Given the description of an element on the screen output the (x, y) to click on. 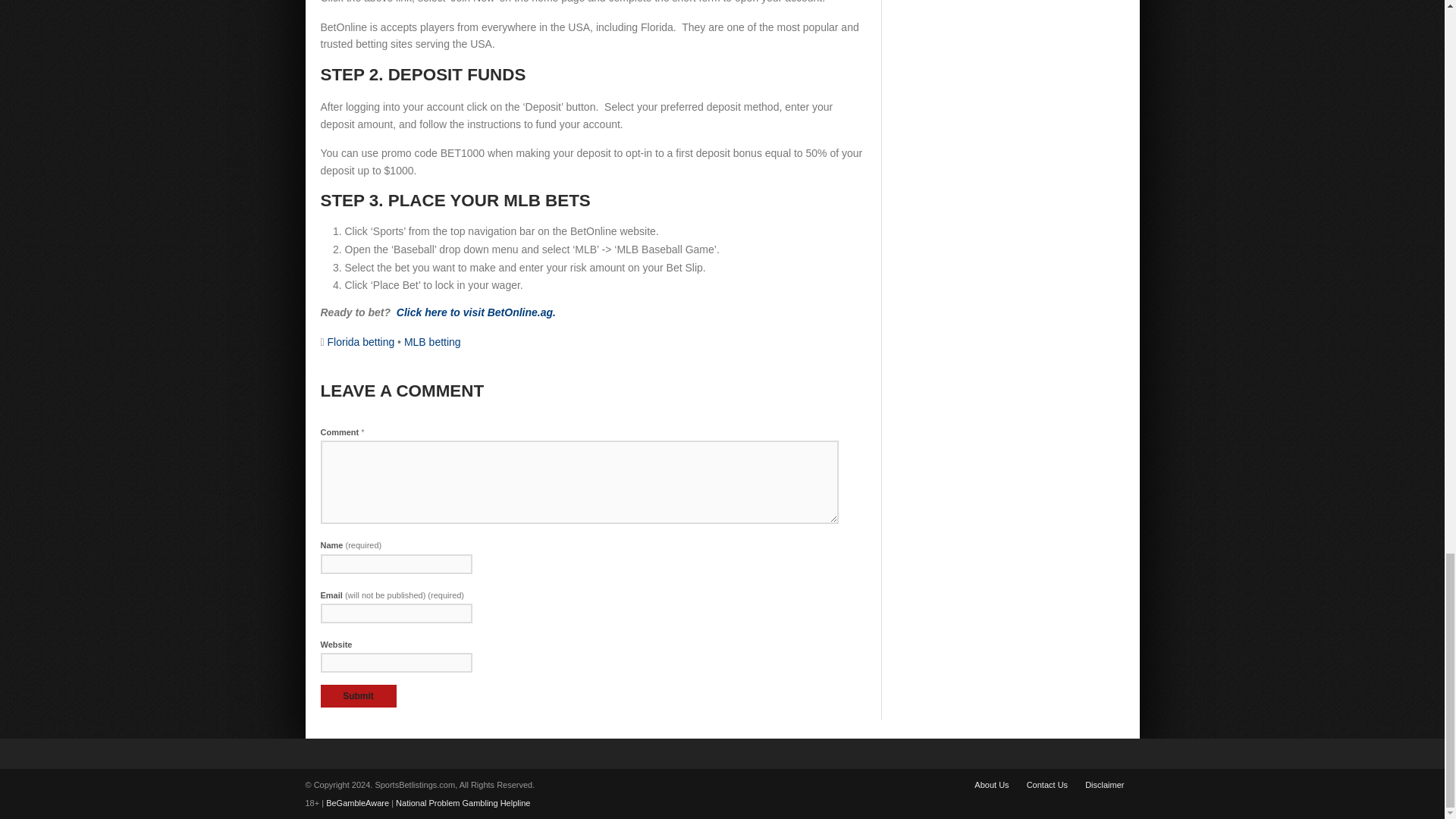
Submit (358, 695)
Submit (358, 695)
Florida betting (360, 341)
Click here to visit BetOnline.ag. (476, 312)
MLB betting (432, 341)
